Given the description of an element on the screen output the (x, y) to click on. 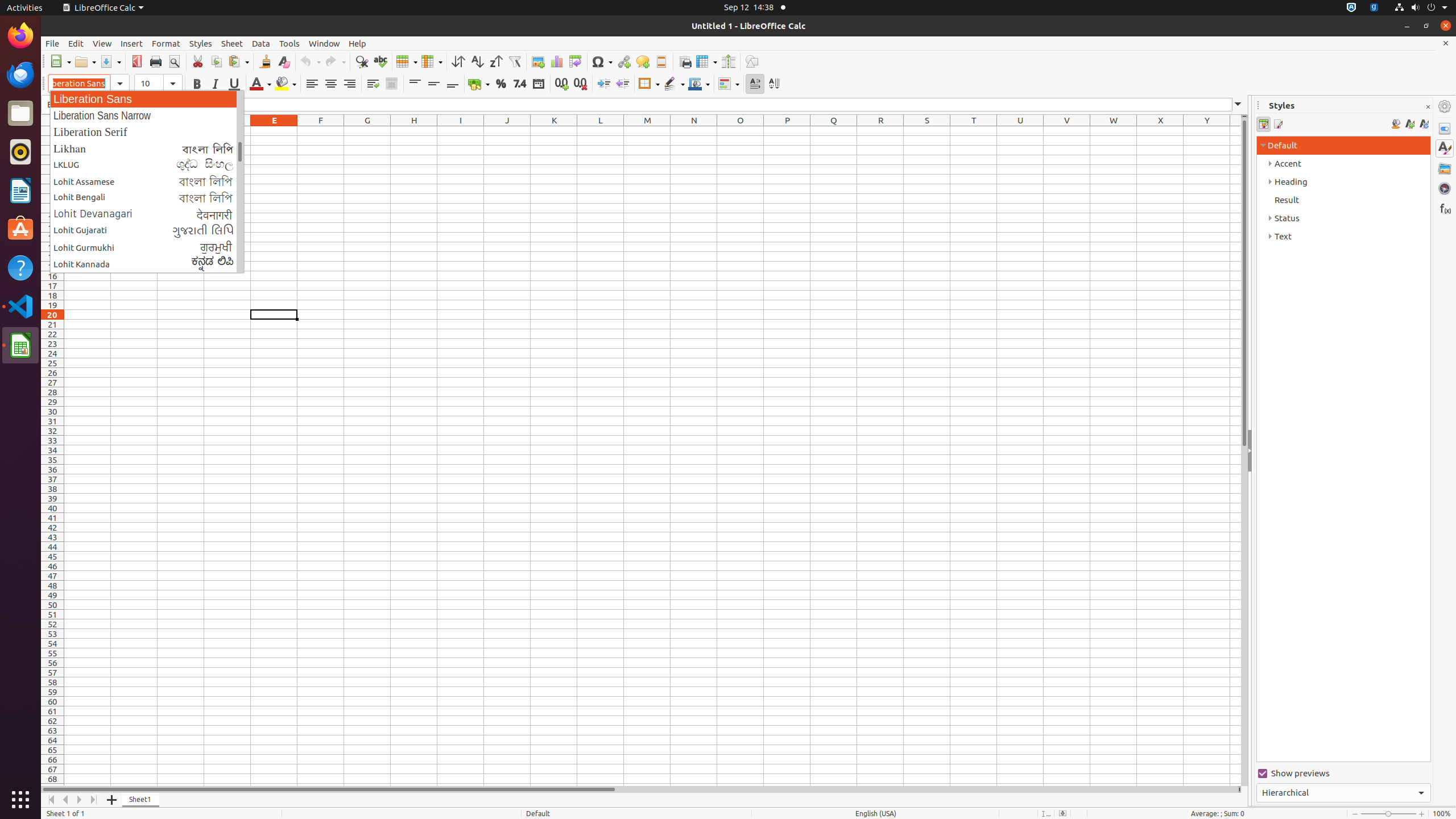
Liberation Serif Element type: list-item (146, 131)
F1 Element type: table-cell (320, 130)
Hyperlink Element type: toggle-button (623, 61)
Window Element type: menu (324, 43)
Lohit Gurmukhi Element type: list-item (146, 246)
